Given the description of an element on the screen output the (x, y) to click on. 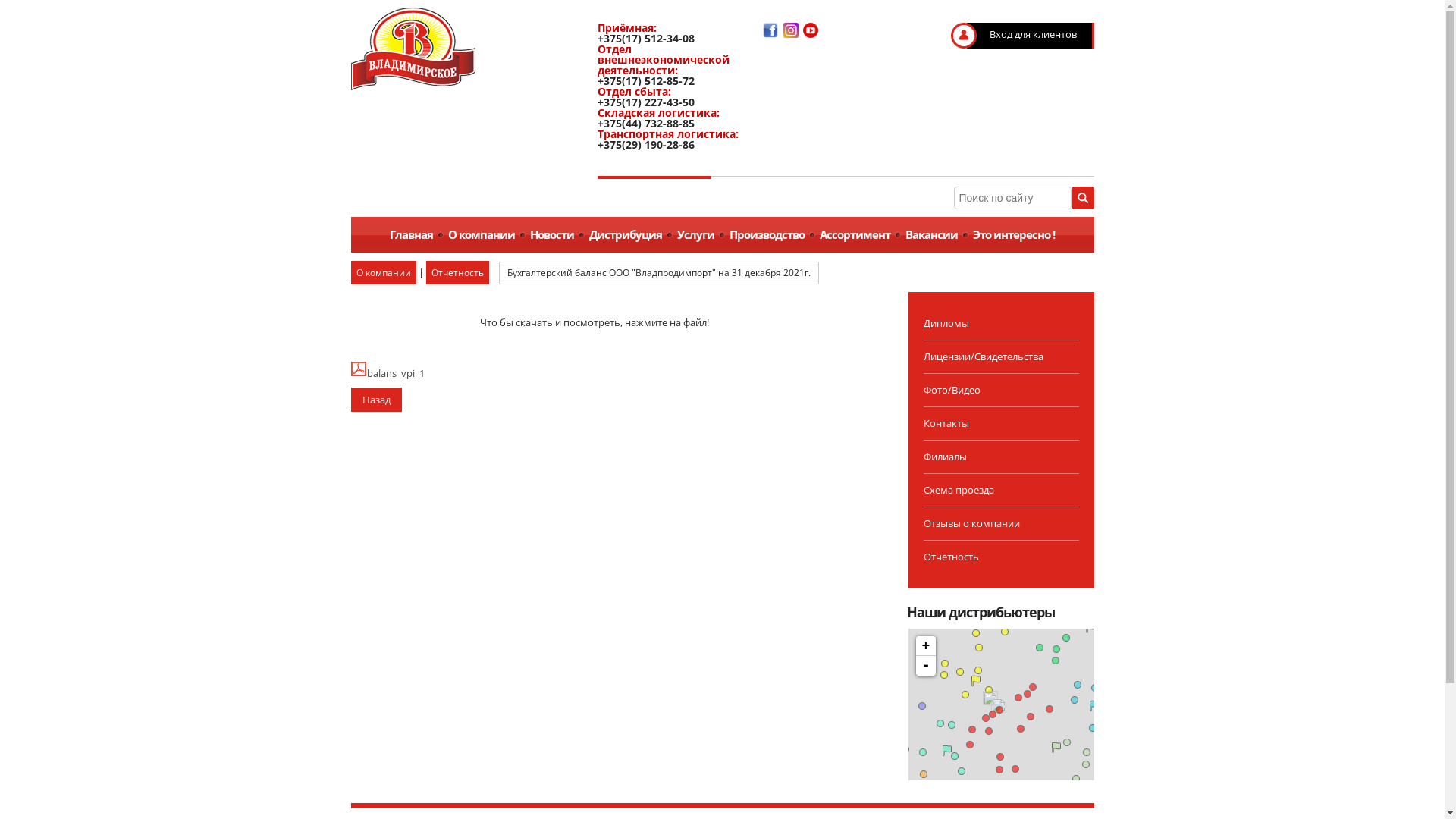
- Element type: text (925, 665)
balans_vpi_1 Element type: text (386, 372)
+ Element type: text (925, 645)
